Given the description of an element on the screen output the (x, y) to click on. 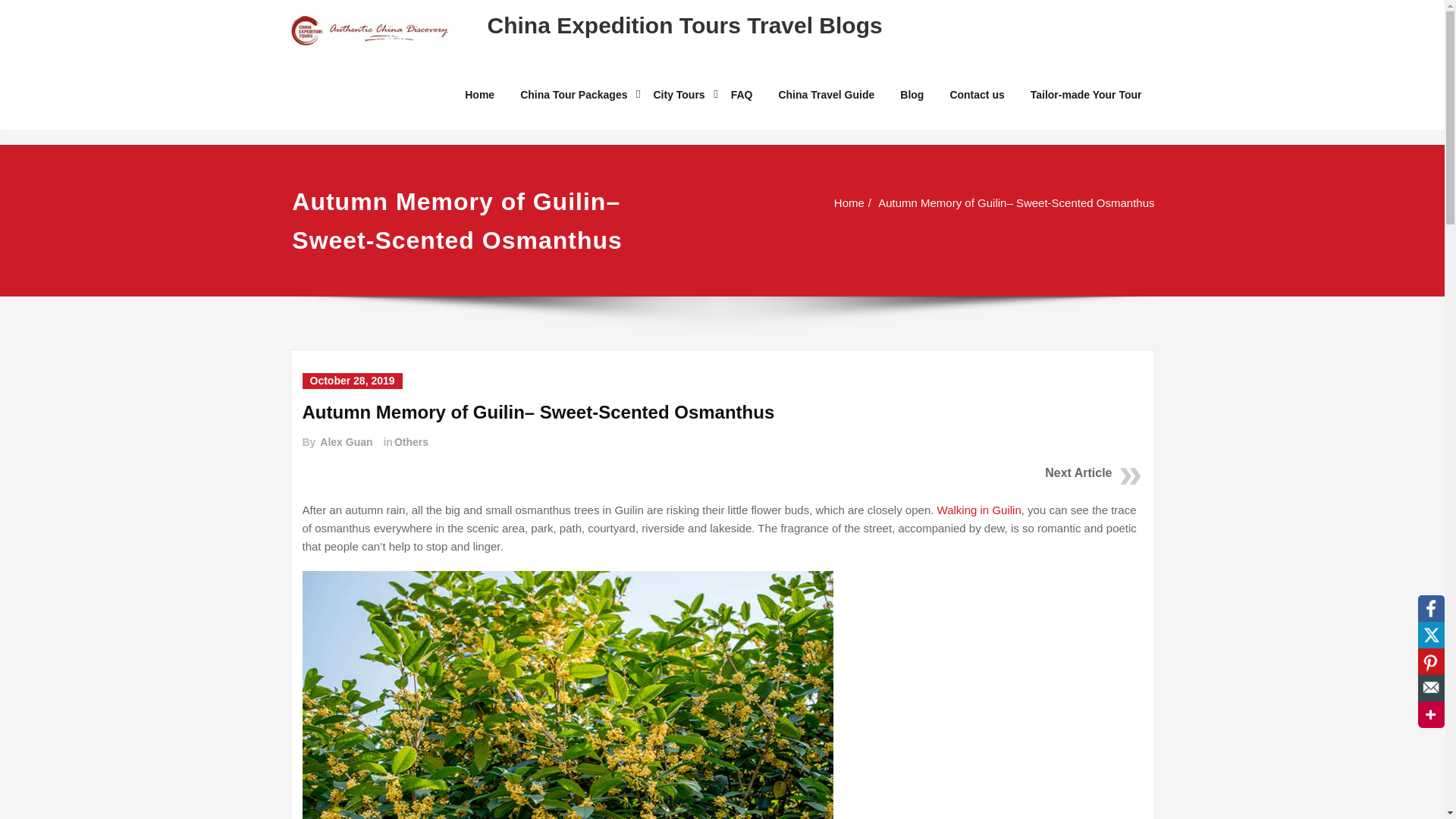
China Expedition Tours Travel Blogs (684, 25)
China Tour Packages (573, 94)
City Tours (678, 94)
